Given the description of an element on the screen output the (x, y) to click on. 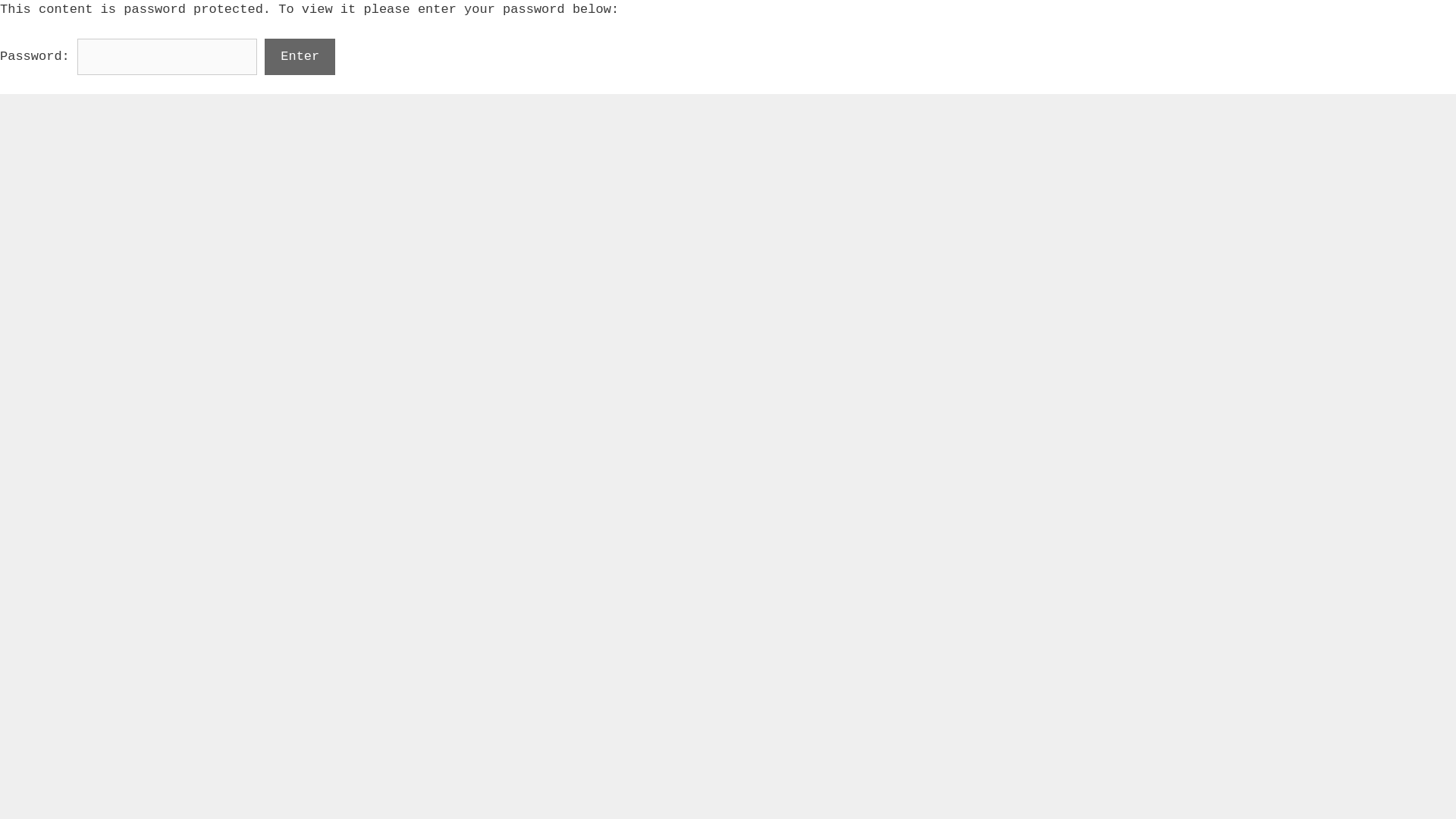
Enter Element type: text (299, 56)
